Given the description of an element on the screen output the (x, y) to click on. 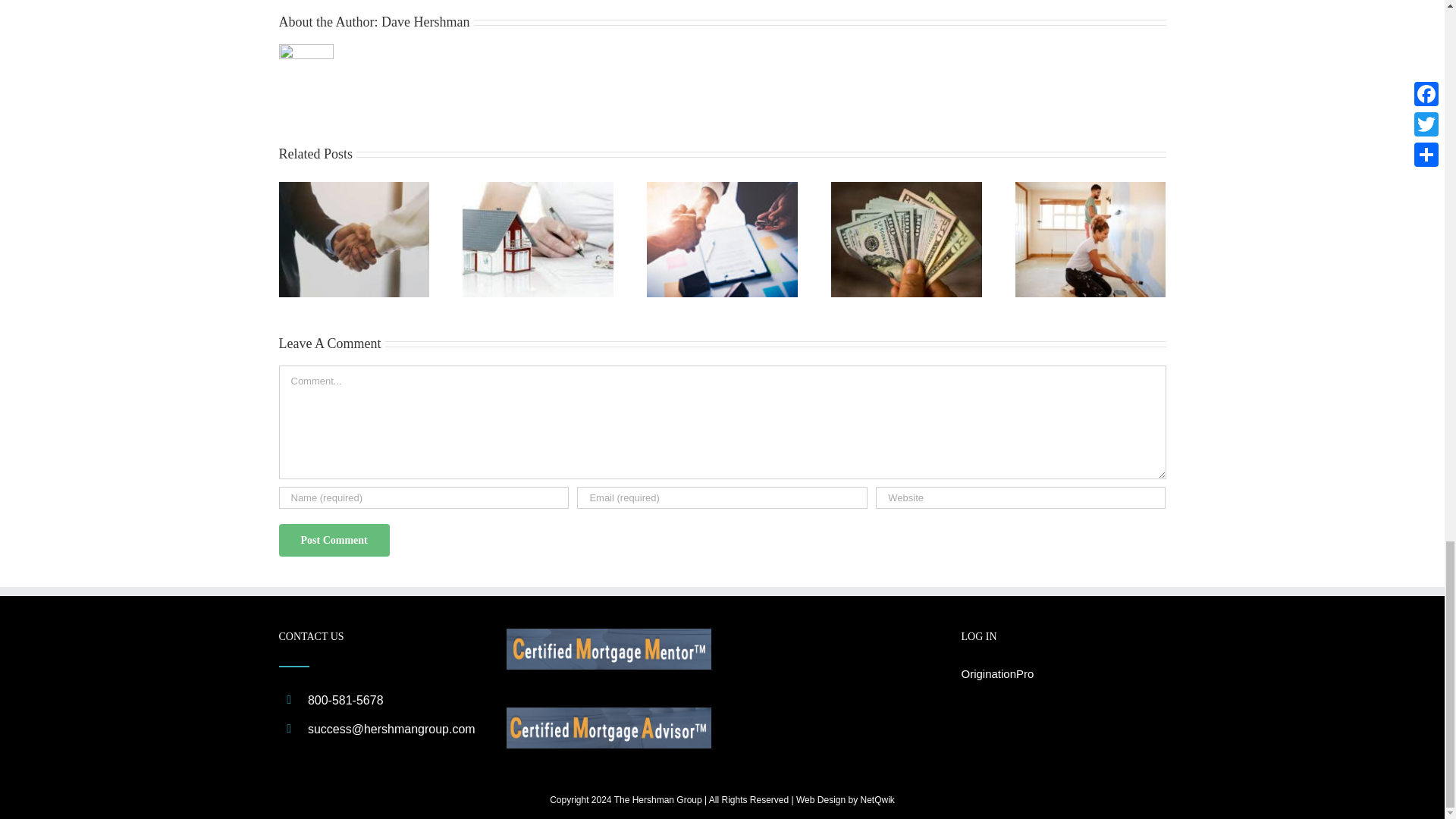
Dave Hershman (424, 21)
Post Comment (334, 540)
Posts by Dave Hershman (424, 21)
